Given the description of an element on the screen output the (x, y) to click on. 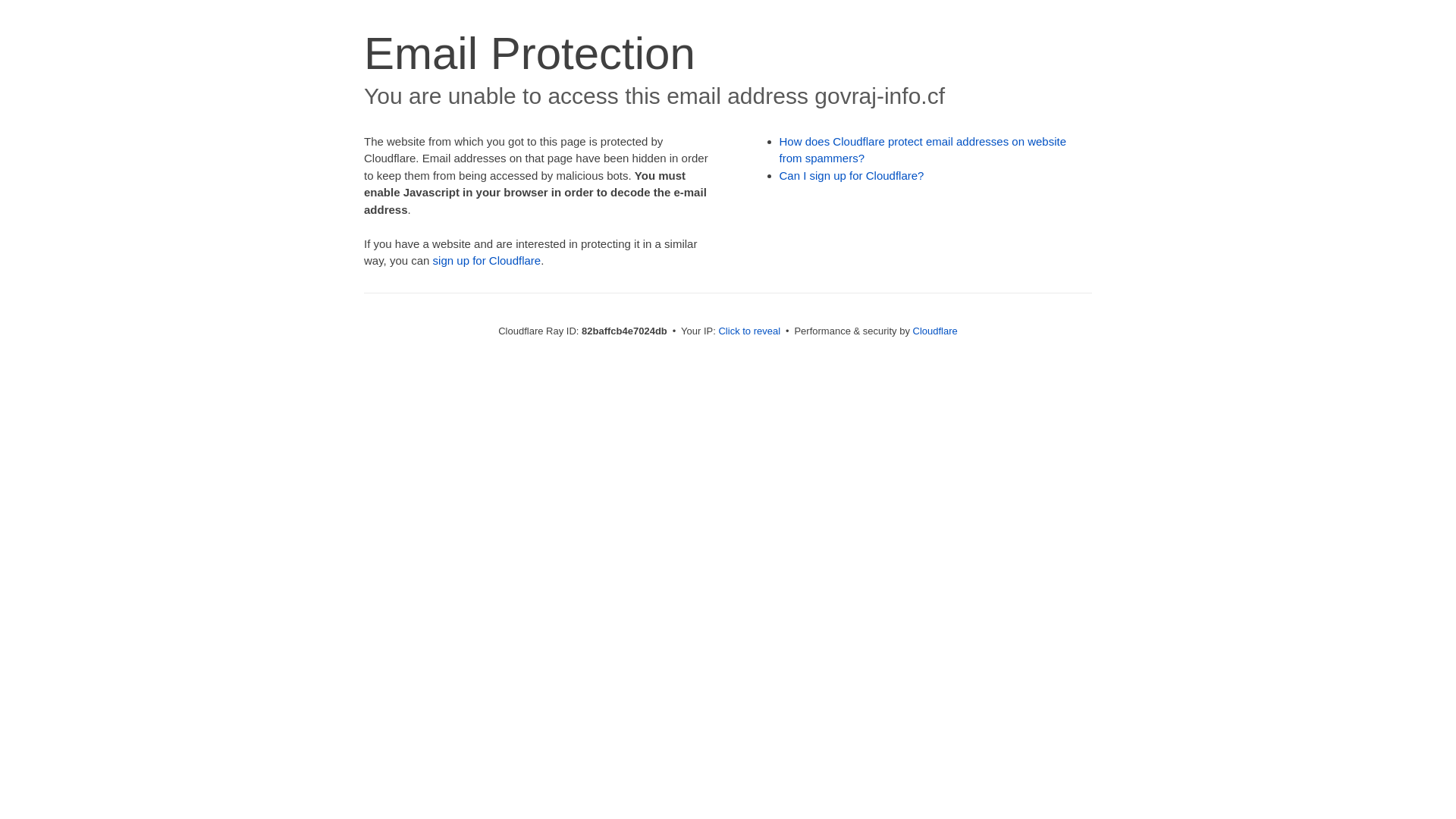
Can I sign up for Cloudflare? Element type: text (851, 175)
Cloudflare Element type: text (935, 330)
sign up for Cloudflare Element type: text (487, 260)
Click to reveal Element type: text (749, 330)
